Given the description of an element on the screen output the (x, y) to click on. 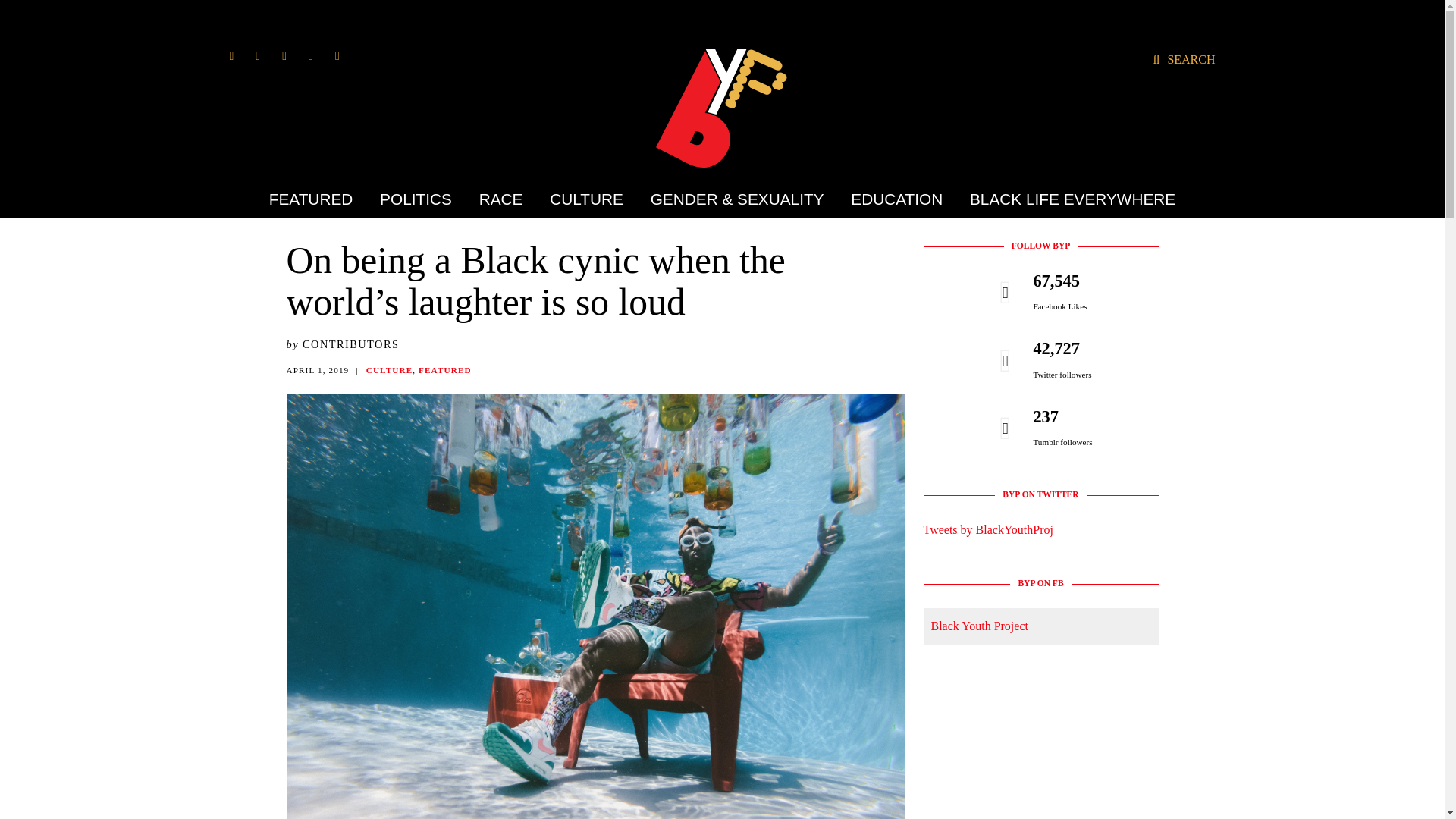
CULTURE (586, 198)
Tweets by BlackYouthProj (987, 529)
by CONTRIBUTORS (342, 344)
FEATURED (445, 369)
FEATURED (317, 198)
Black Youth Project (979, 625)
SEARCH (1183, 59)
BLACK LIFE EVERYWHERE (1066, 198)
EDUCATION (896, 198)
CULTURE (389, 369)
